Given the description of an element on the screen output the (x, y) to click on. 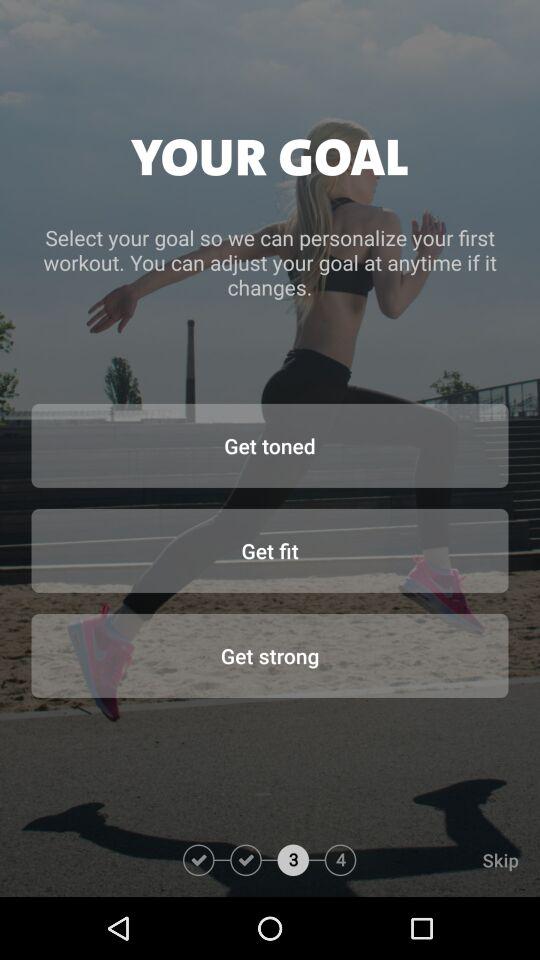
select the item below get strong item (448, 859)
